Given the description of an element on the screen output the (x, y) to click on. 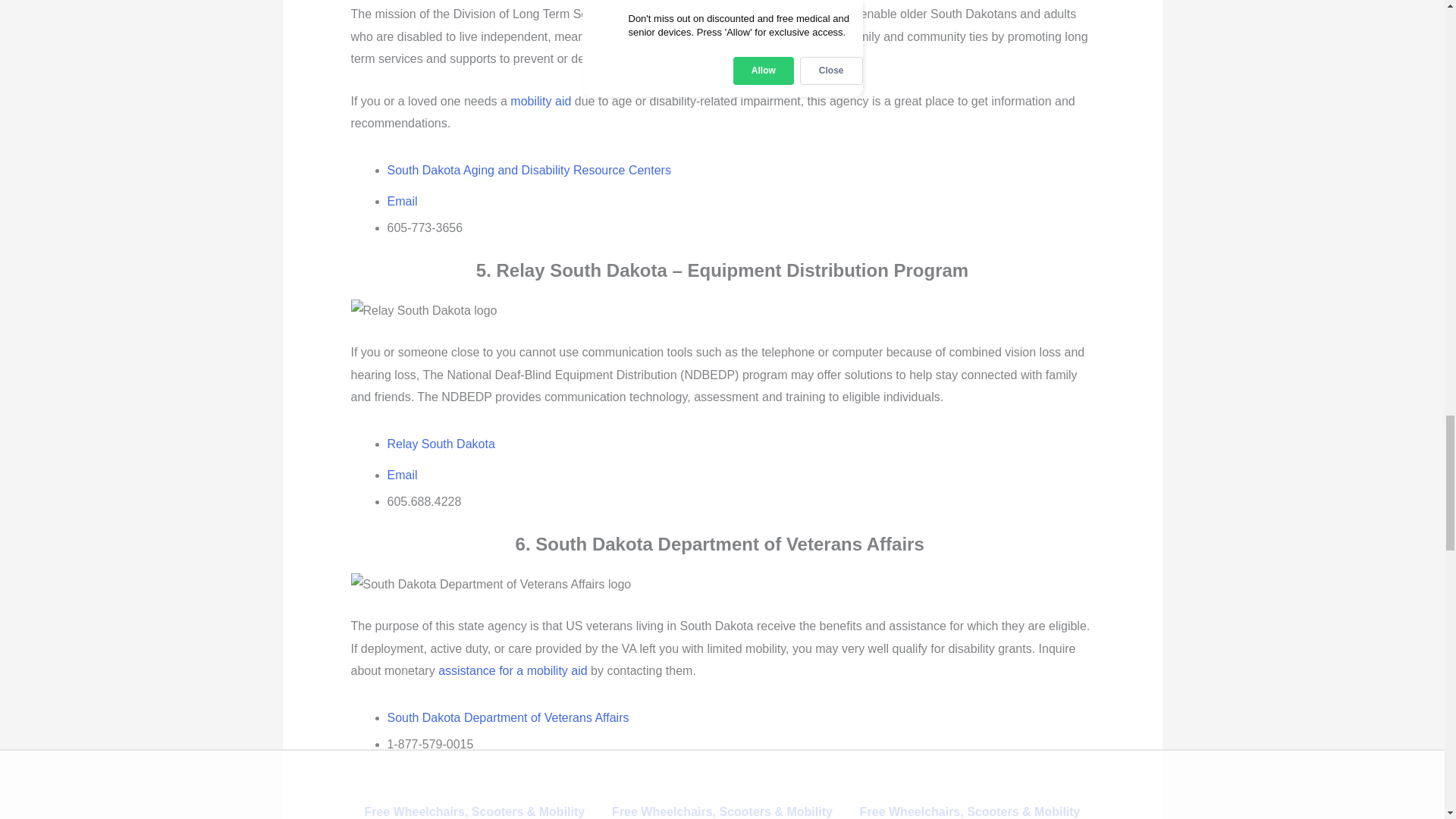
Relay South Dakota (423, 310)
